Given the description of an element on the screen output the (x, y) to click on. 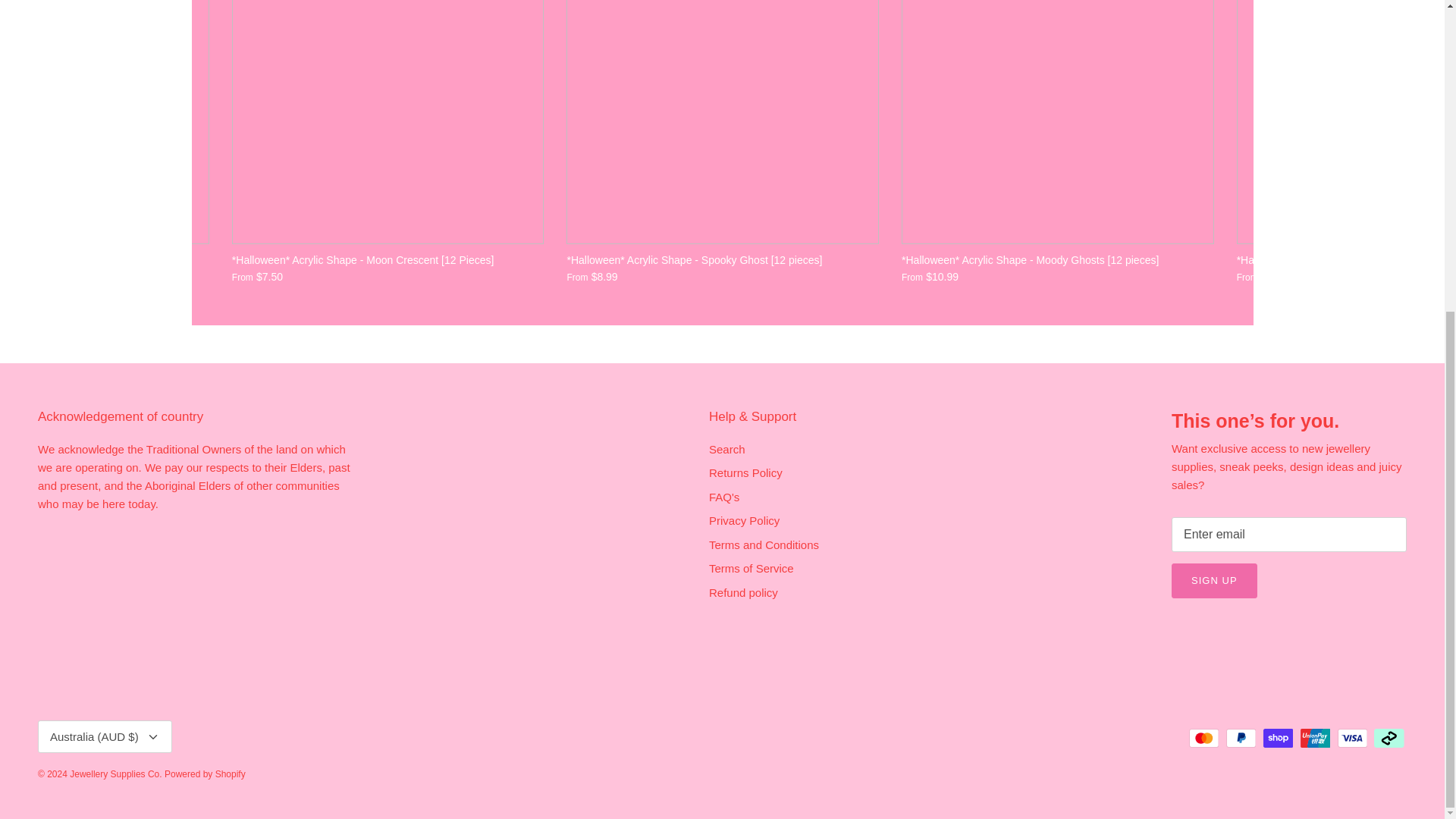
PayPal (1240, 737)
Union Pay (1315, 737)
Visa (1352, 737)
Mastercard (1203, 737)
Down (153, 736)
Shop Pay (1277, 737)
